Given the description of an element on the screen output the (x, y) to click on. 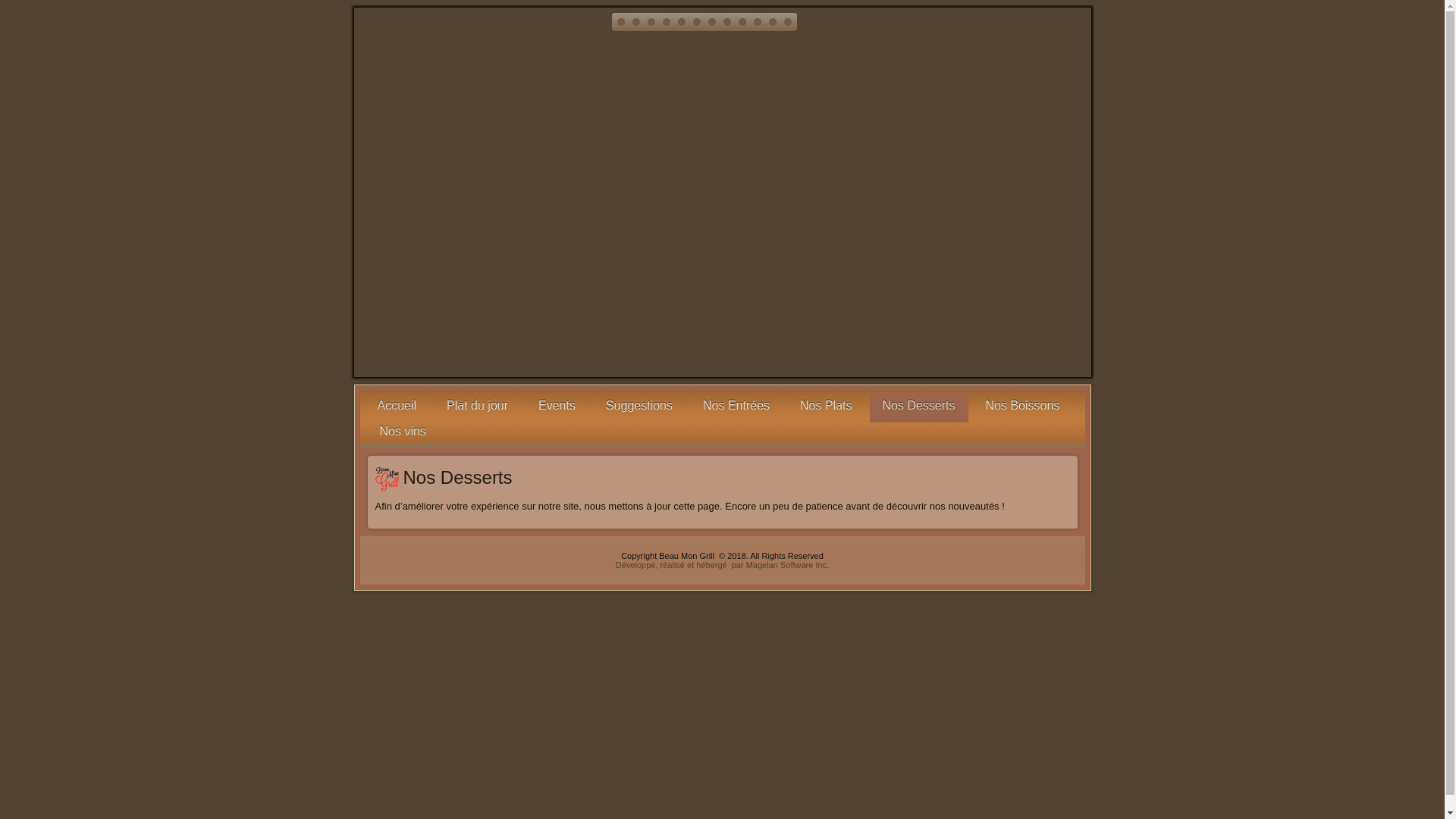
Plat du jour Element type: text (476, 405)
Accueil Element type: text (396, 405)
Nos Desserts Element type: text (918, 407)
Nos vins Element type: text (403, 431)
Suggestions Element type: text (639, 405)
Events Element type: text (556, 405)
Nos Plats Element type: text (825, 405)
Nos Boissons Element type: text (1022, 405)
